Given the description of an element on the screen output the (x, y) to click on. 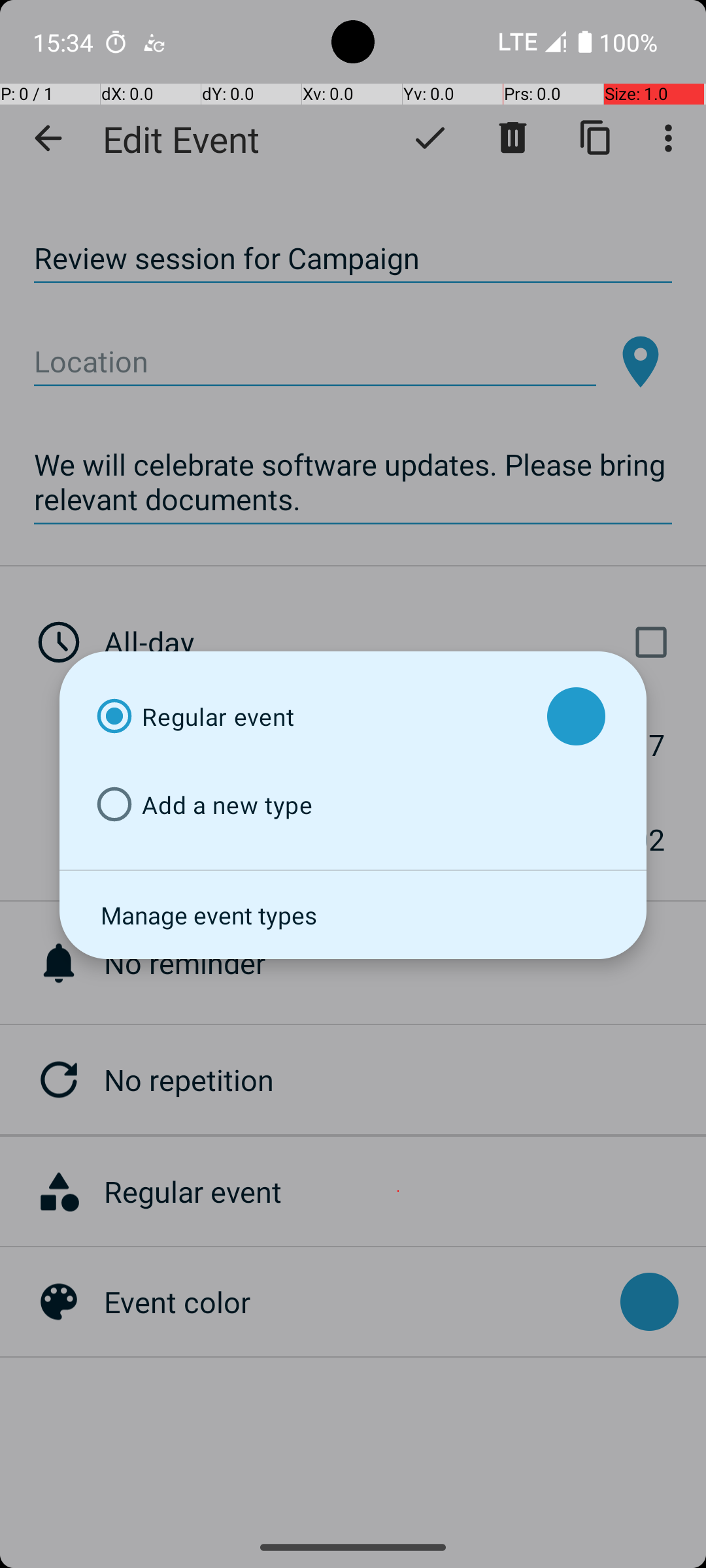
Add a new type Element type: android.widget.RadioButton (309, 804)
